Given the description of an element on the screen output the (x, y) to click on. 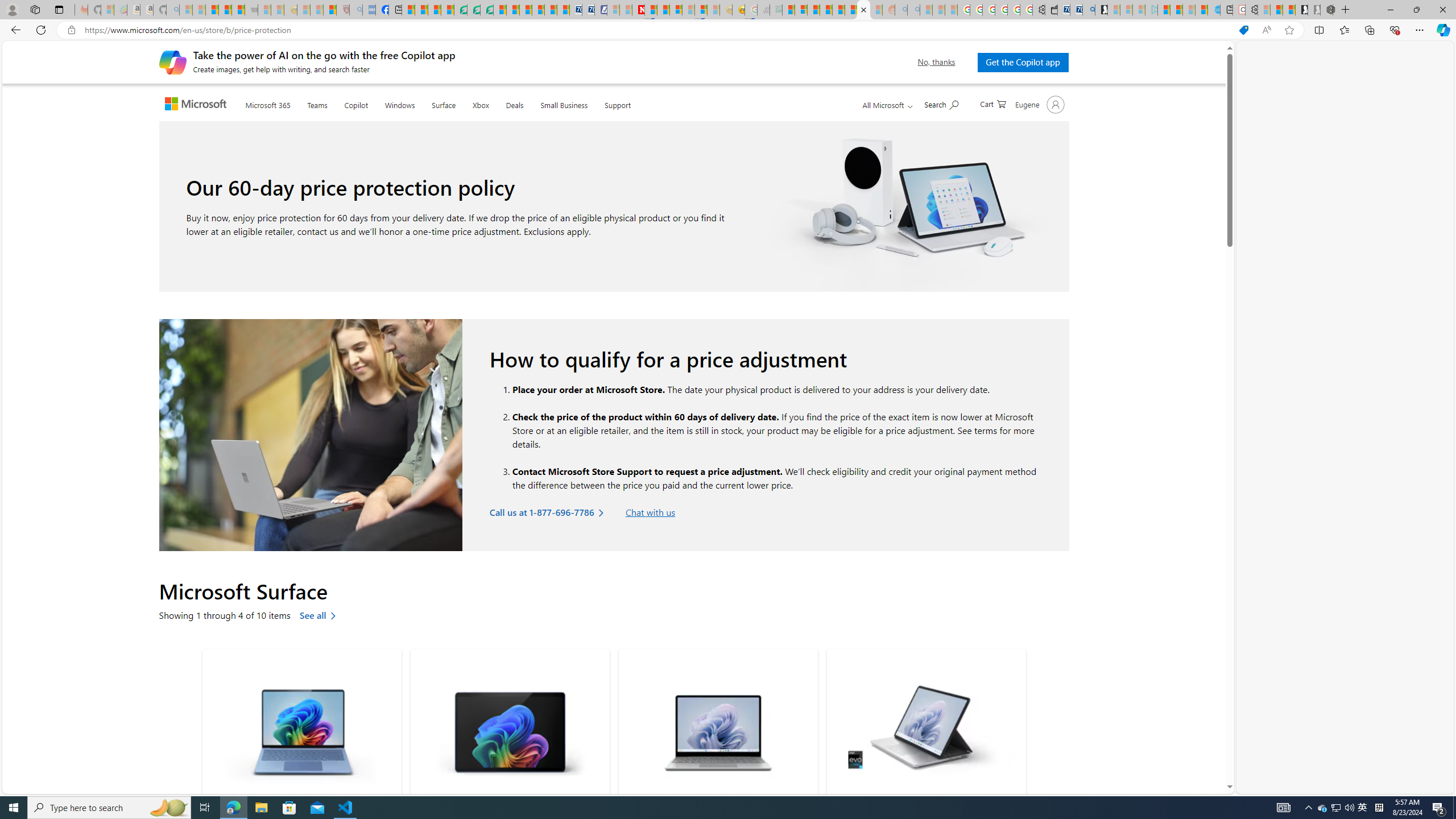
Chat with us (649, 512)
Search Microsoft.com (940, 103)
Recipes - MSN - Sleeping (303, 9)
Xbox (480, 103)
Trusted Community Engagement and Contributions | Guidelines (650, 9)
0 items in shopping cart (992, 103)
Wallet (1050, 9)
